Given the description of an element on the screen output the (x, y) to click on. 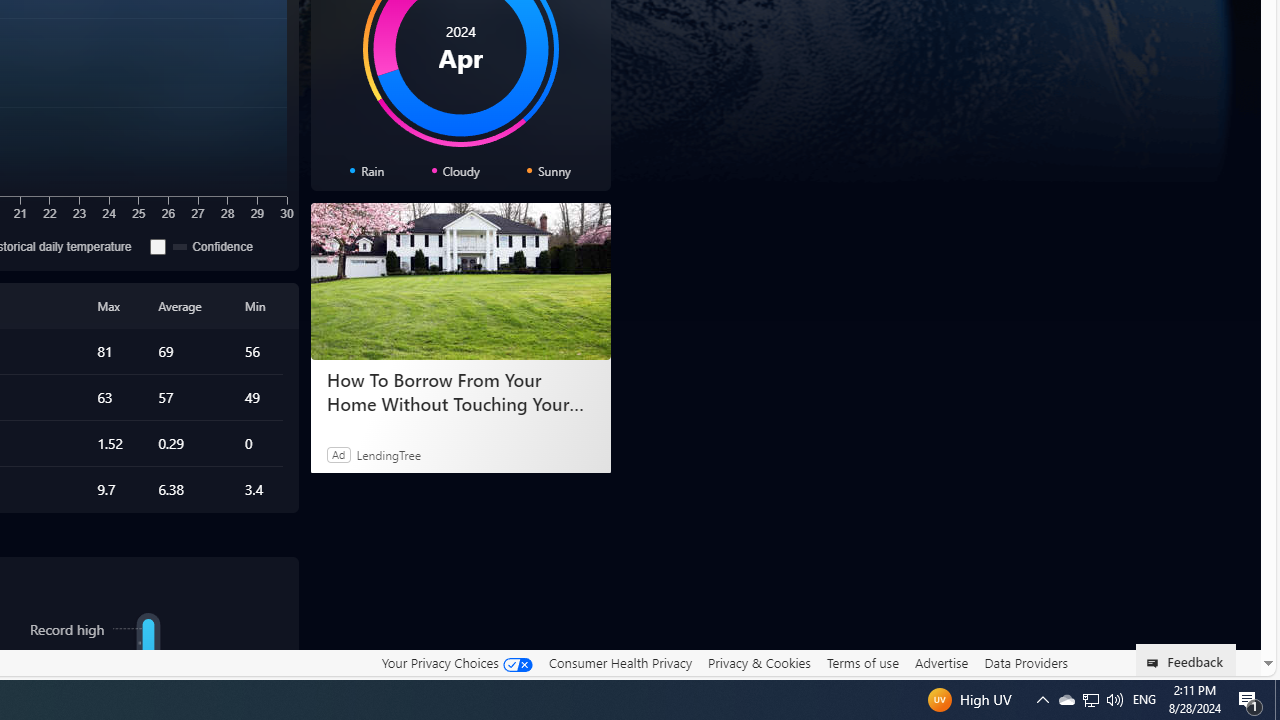
Your Privacy Choices (456, 662)
Privacy & Cookies (759, 662)
Data Providers (1025, 662)
How To Borrow From Your Home Without Touching Your Mortgage (459, 281)
LendingTree (388, 453)
